Given the description of an element on the screen output the (x, y) to click on. 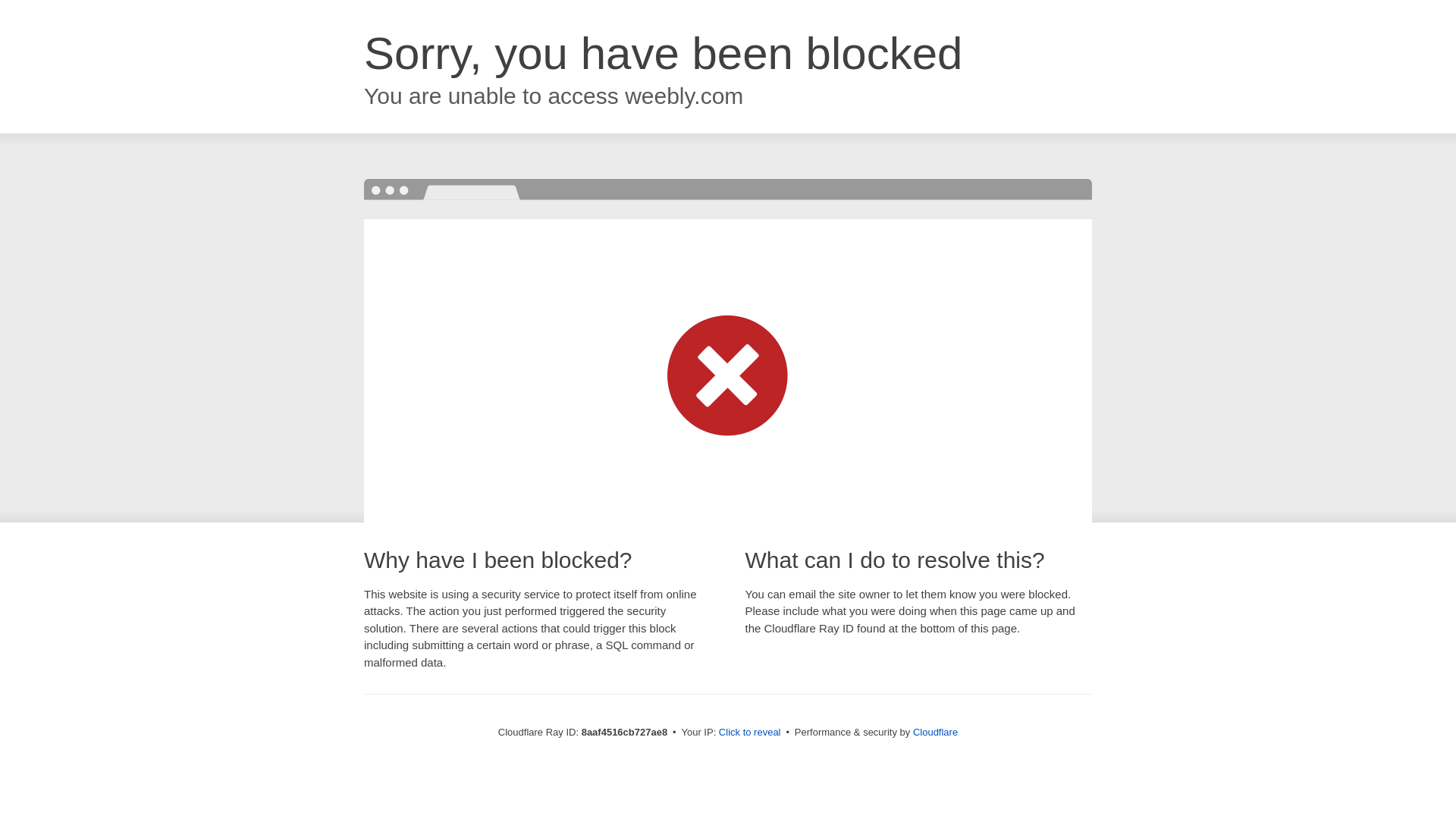
Cloudflare (935, 731)
Click to reveal (749, 732)
